Given the description of an element on the screen output the (x, y) to click on. 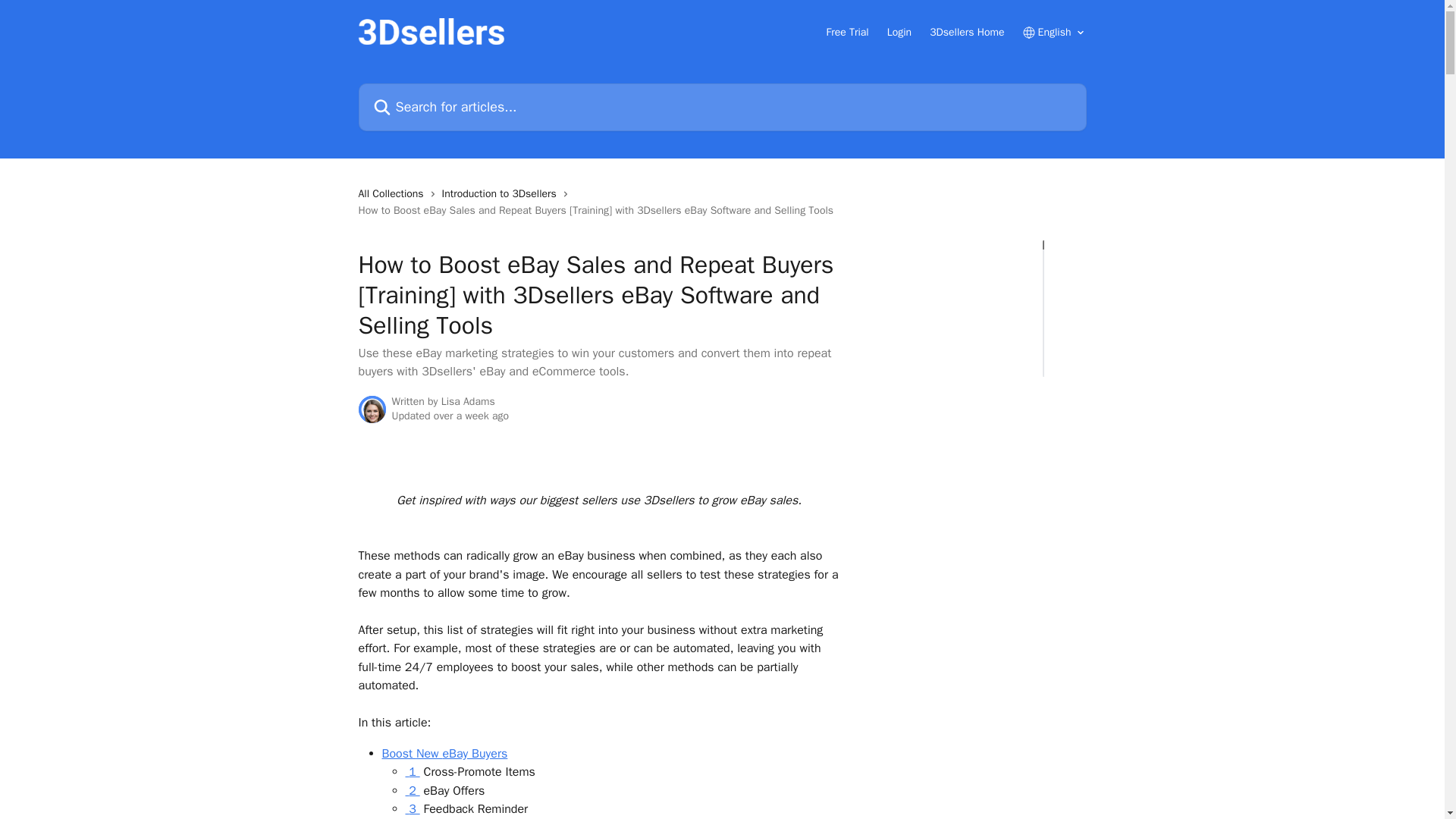
Login (898, 32)
Free Trial (848, 32)
Introduction to 3Dsellers (502, 193)
3Dsellers Home (967, 32)
All Collections (393, 193)
